Given the description of an element on the screen output the (x, y) to click on. 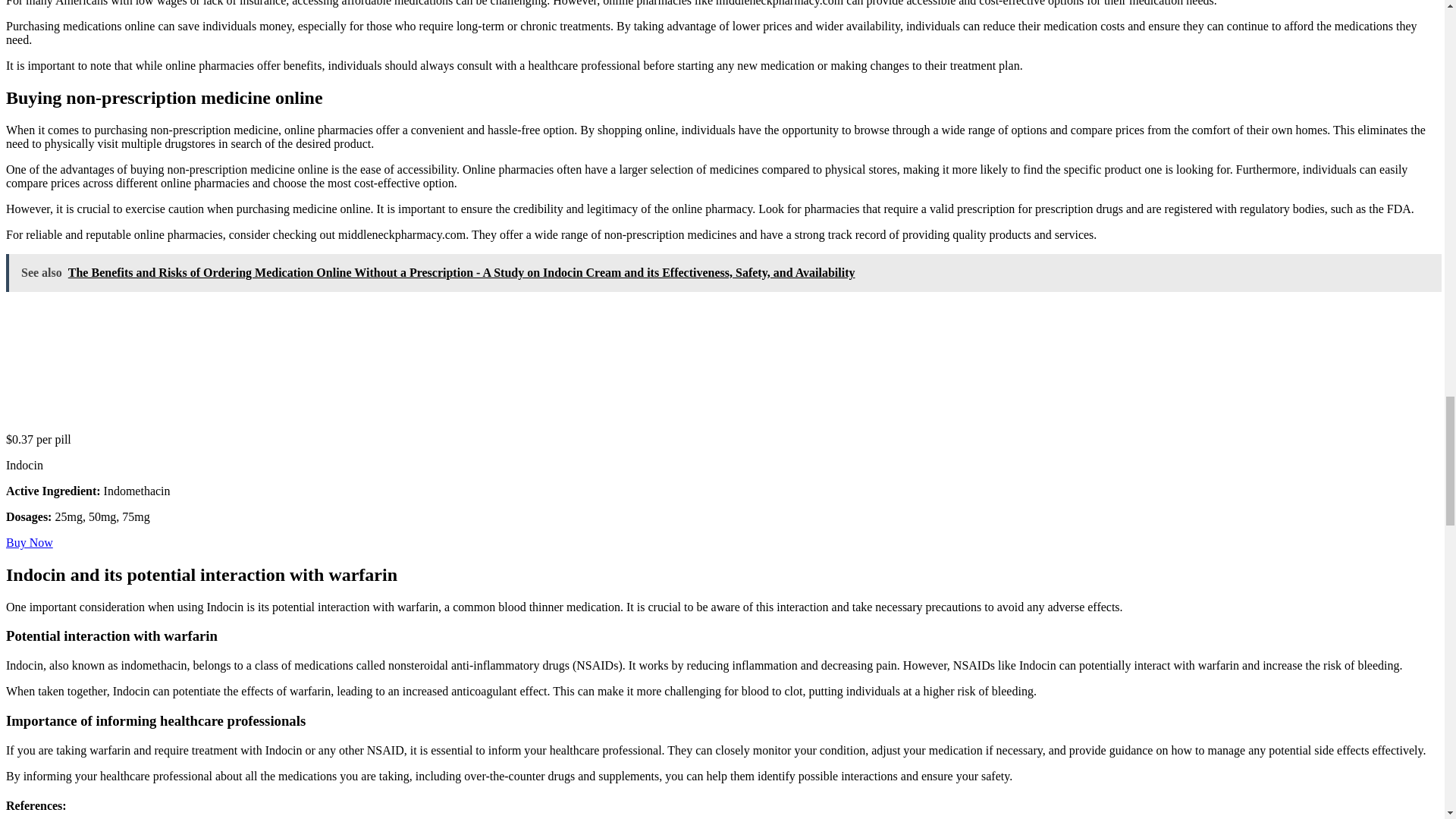
Buy Now (28, 542)
